Given the description of an element on the screen output the (x, y) to click on. 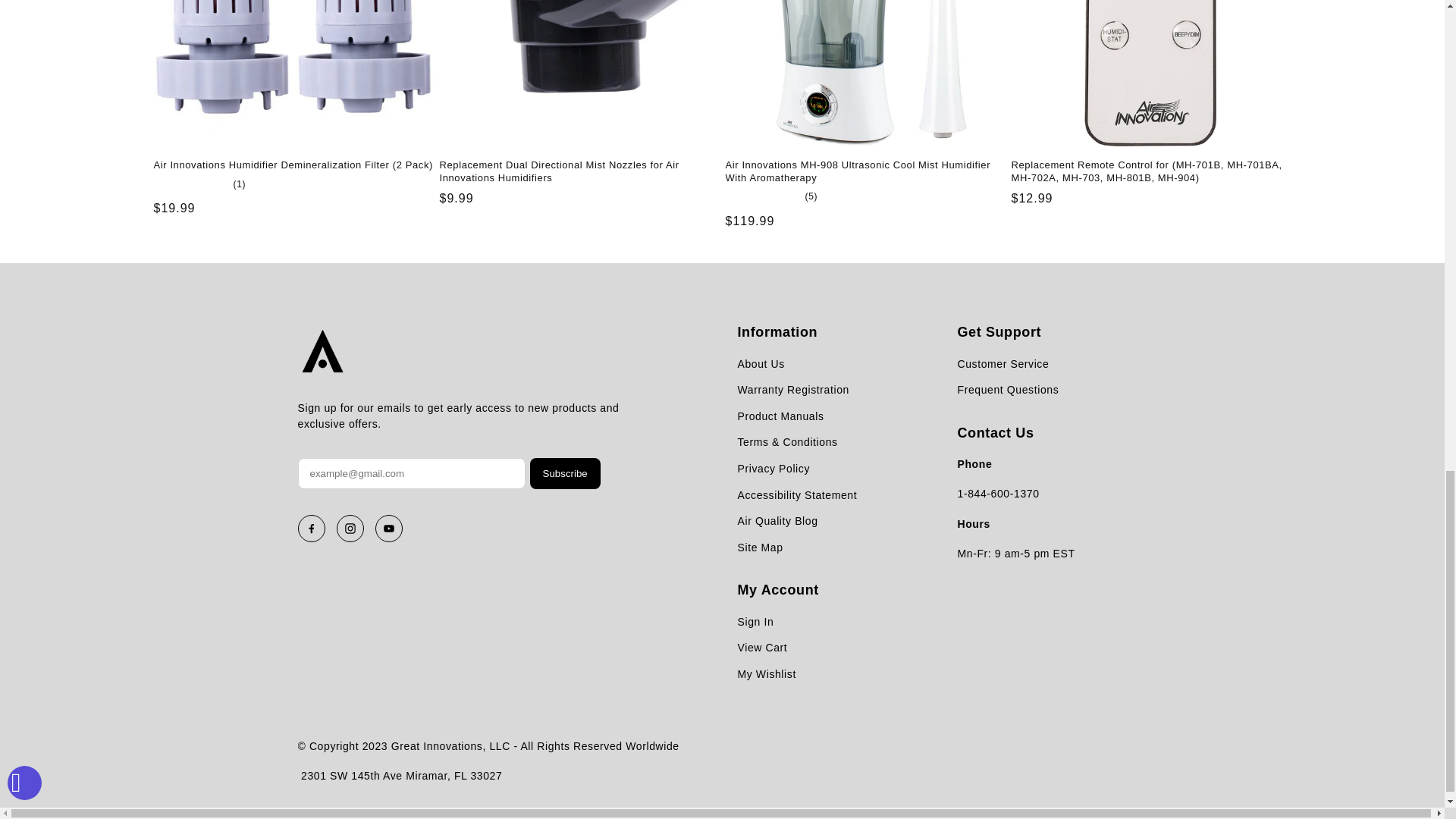
Privacy Policy (796, 468)
Site Map (796, 548)
Warranty Registration (796, 390)
Customer Service (1007, 364)
View Cart (765, 648)
Sign In (765, 622)
Air Quality Blog (796, 521)
My Wishlist (765, 674)
Accessibility Statement (796, 495)
Product Manuals (796, 417)
